Given the description of an element on the screen output the (x, y) to click on. 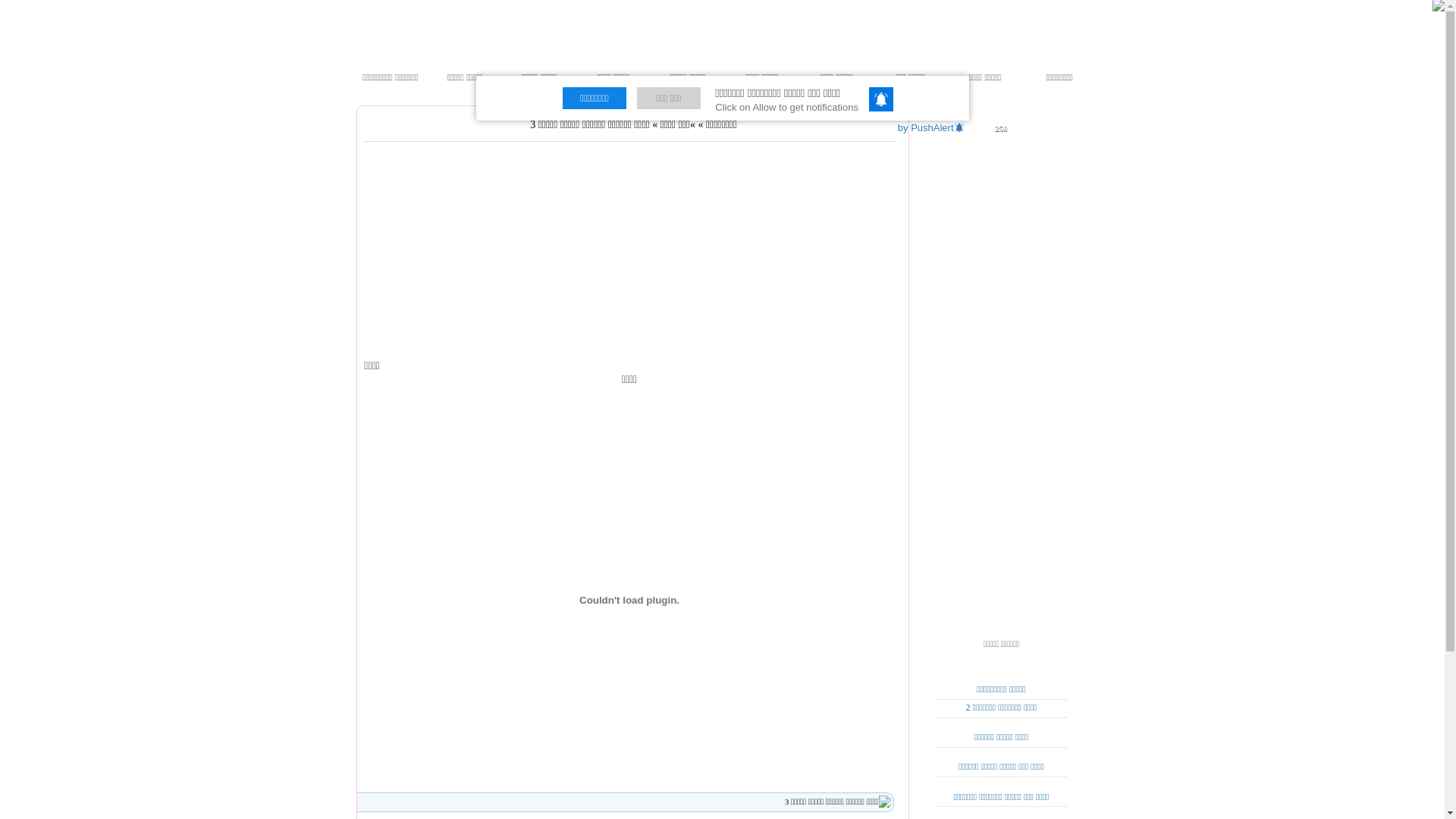
Advertisement Element type: hover (509, 262)
Advertisement Element type: hover (767, 262)
by PushAlert Element type: text (932, 127)
Advertisement Element type: hover (1000, 377)
